Given the description of an element on the screen output the (x, y) to click on. 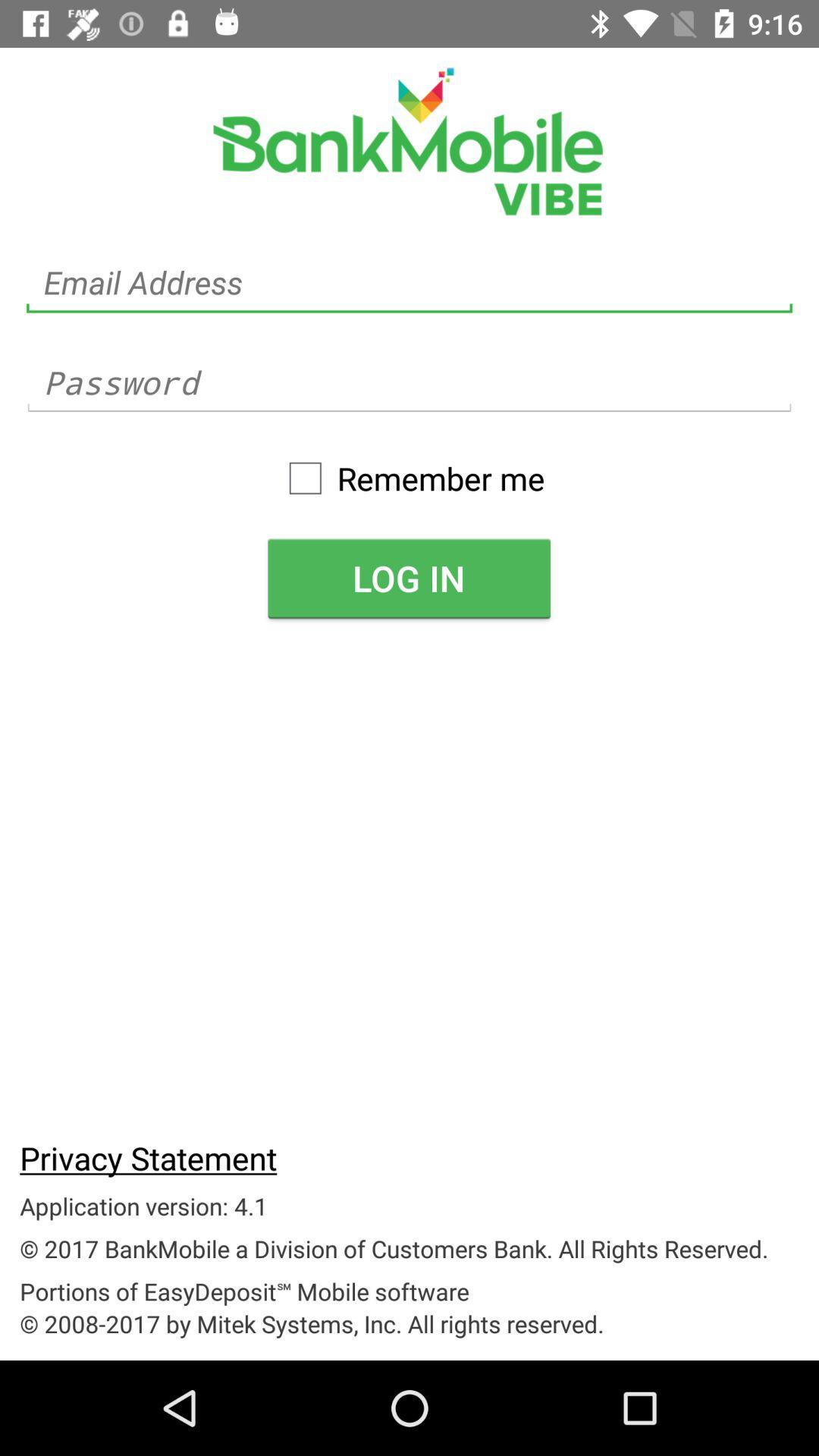
launch icon above privacy statement (408, 578)
